Given the description of an element on the screen output the (x, y) to click on. 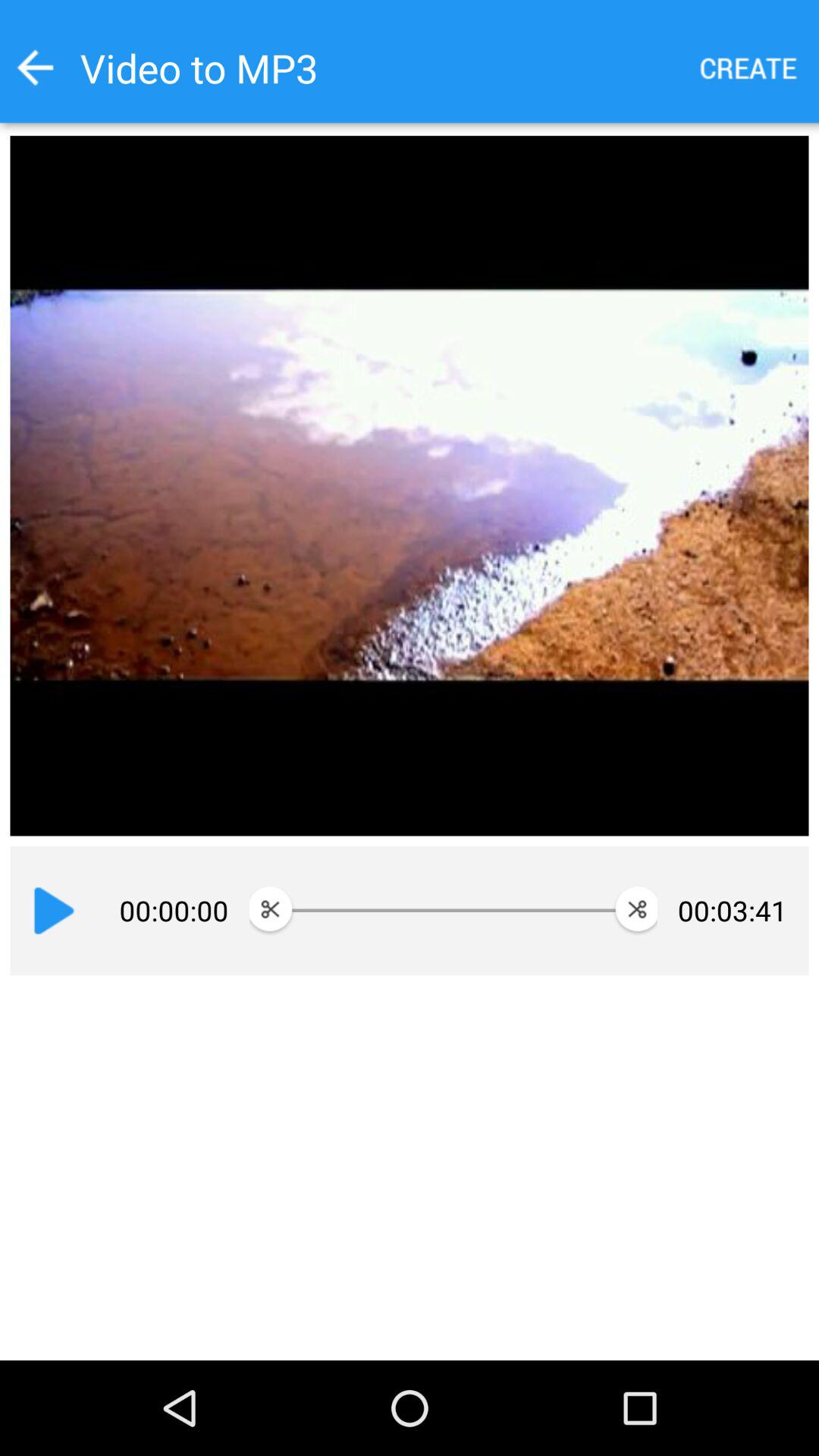
create mp3 file (749, 67)
